Given the description of an element on the screen output the (x, y) to click on. 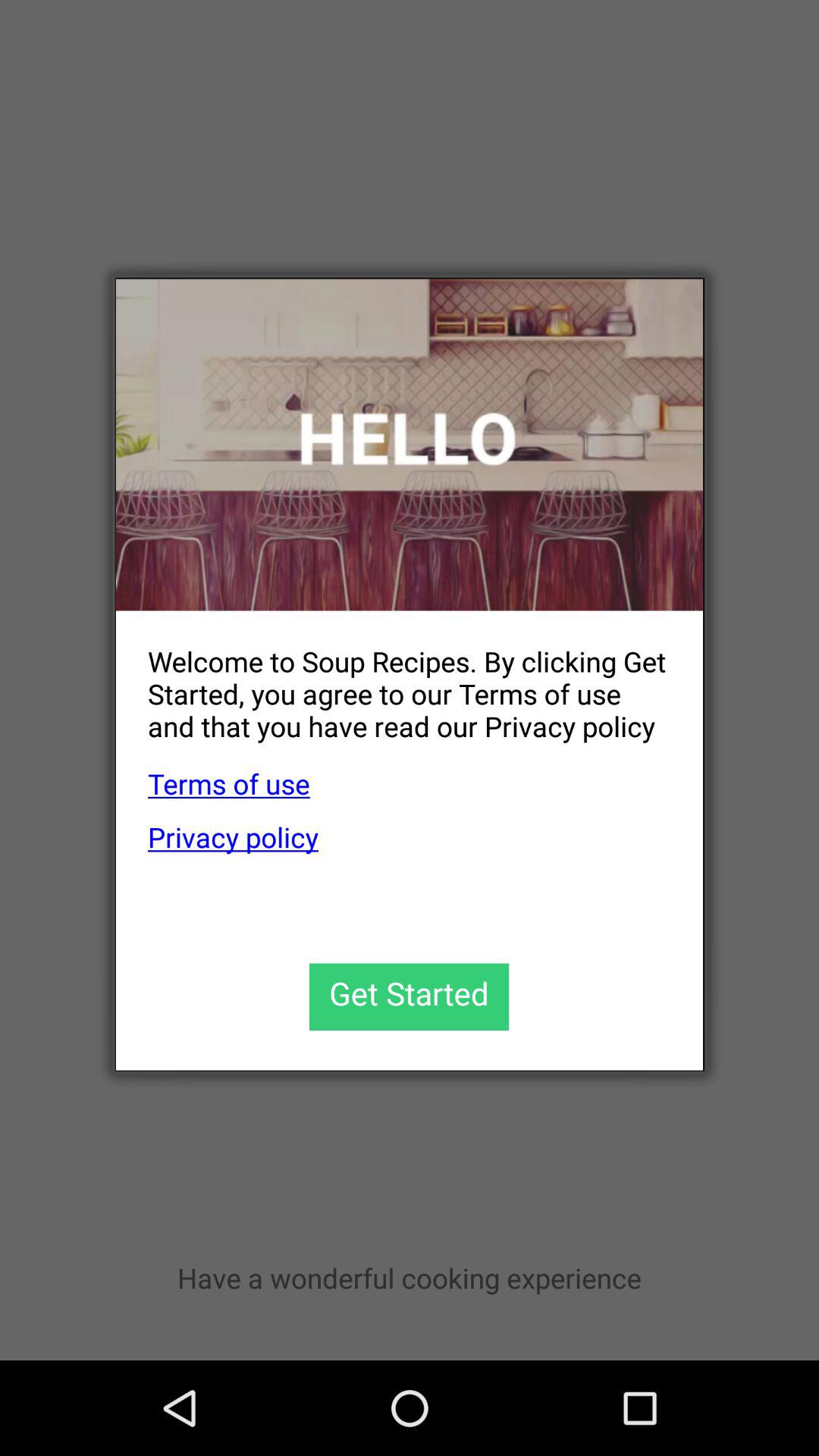
turn off the welcome to soup item (393, 681)
